Given the description of an element on the screen output the (x, y) to click on. 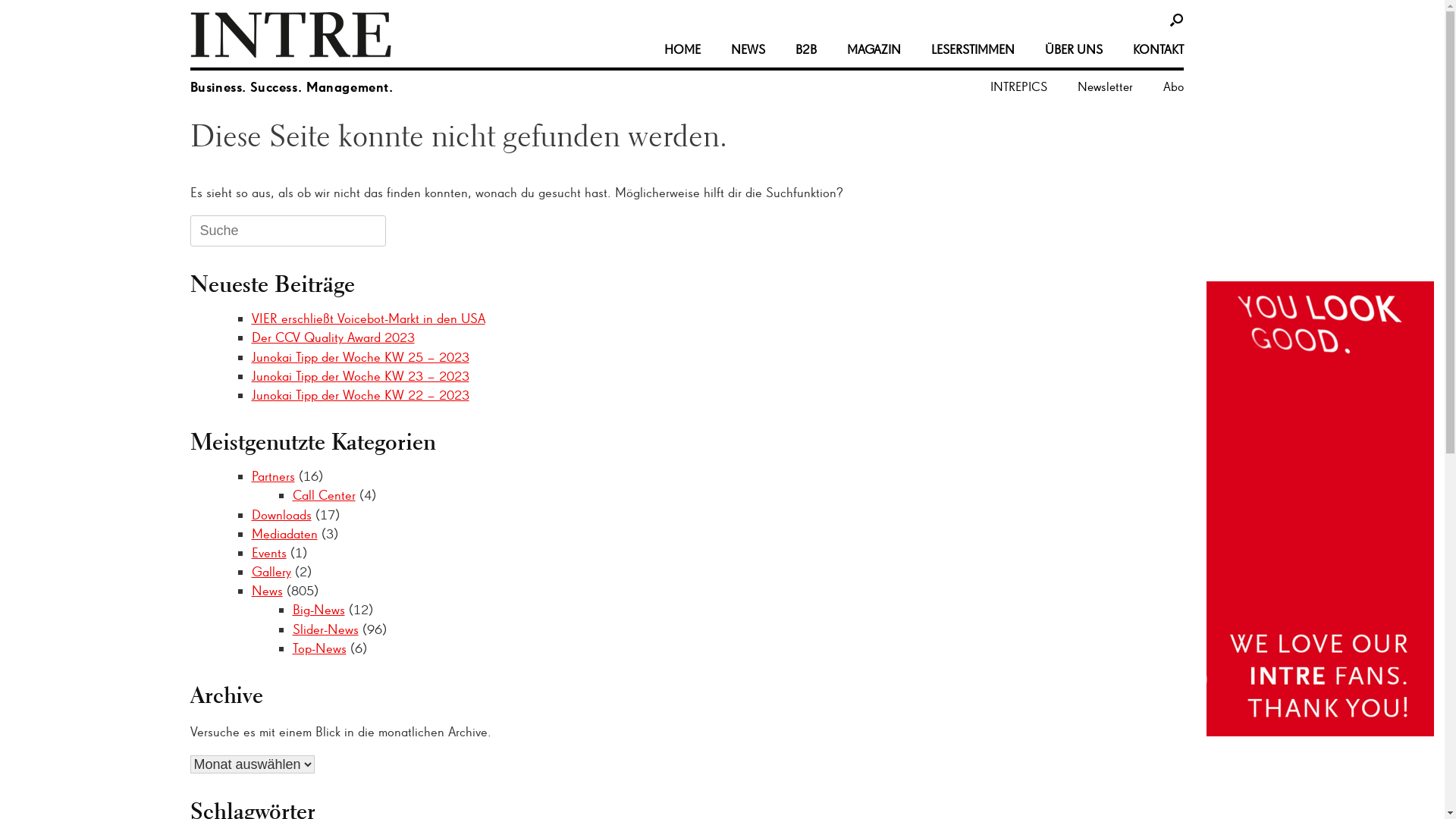
Downloads Element type: text (281, 514)
Partners Element type: text (272, 475)
Events Element type: text (268, 552)
KONTAKT Element type: text (1150, 49)
LESERSTIMMEN Element type: text (972, 49)
Der CCV Quality Award 2023 Element type: text (332, 337)
HOME Element type: text (682, 49)
INTREPICS Element type: text (1018, 86)
B2B Element type: text (805, 49)
Call Center Element type: text (323, 494)
News Element type: text (266, 590)
Big-News Element type: text (318, 609)
Abo Element type: text (1165, 86)
Top-News Element type: text (319, 647)
Mediadaten Element type: text (284, 533)
Slider-News Element type: text (325, 629)
NEWS Element type: text (747, 49)
MAGAZIN Element type: text (873, 49)
Gallery Element type: text (271, 571)
Newsletter Element type: text (1104, 86)
INTRE Element type: hover (290, 34)
